Given the description of an element on the screen output the (x, y) to click on. 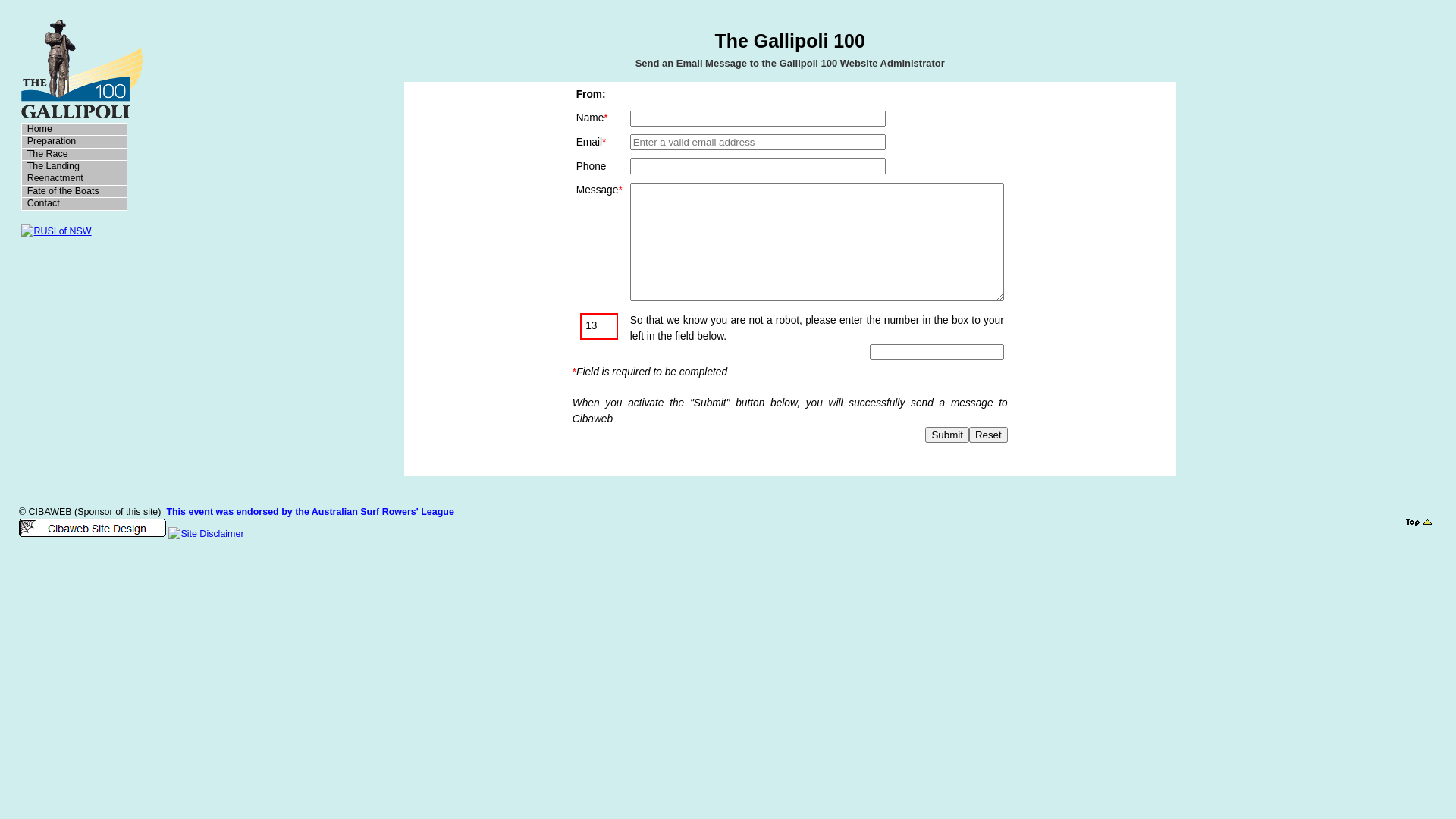
Preparation Element type: text (73, 141)
The Landing Reenactment Element type: text (73, 172)
The Gallipoli 100 Element type: hover (81, 68)
website designed and maintained by Cibaweb Element type: hover (92, 527)
For Military Education THINK RUSI of NSW Element type: hover (56, 231)
The Race Element type: text (73, 154)
Go to Top of Page Element type: hover (1420, 521)
Contact Element type: text (73, 203)
Home Element type: text (73, 129)
Submit Element type: text (946, 434)
Fate of the Boats Element type: text (73, 191)
